Given the description of an element on the screen output the (x, y) to click on. 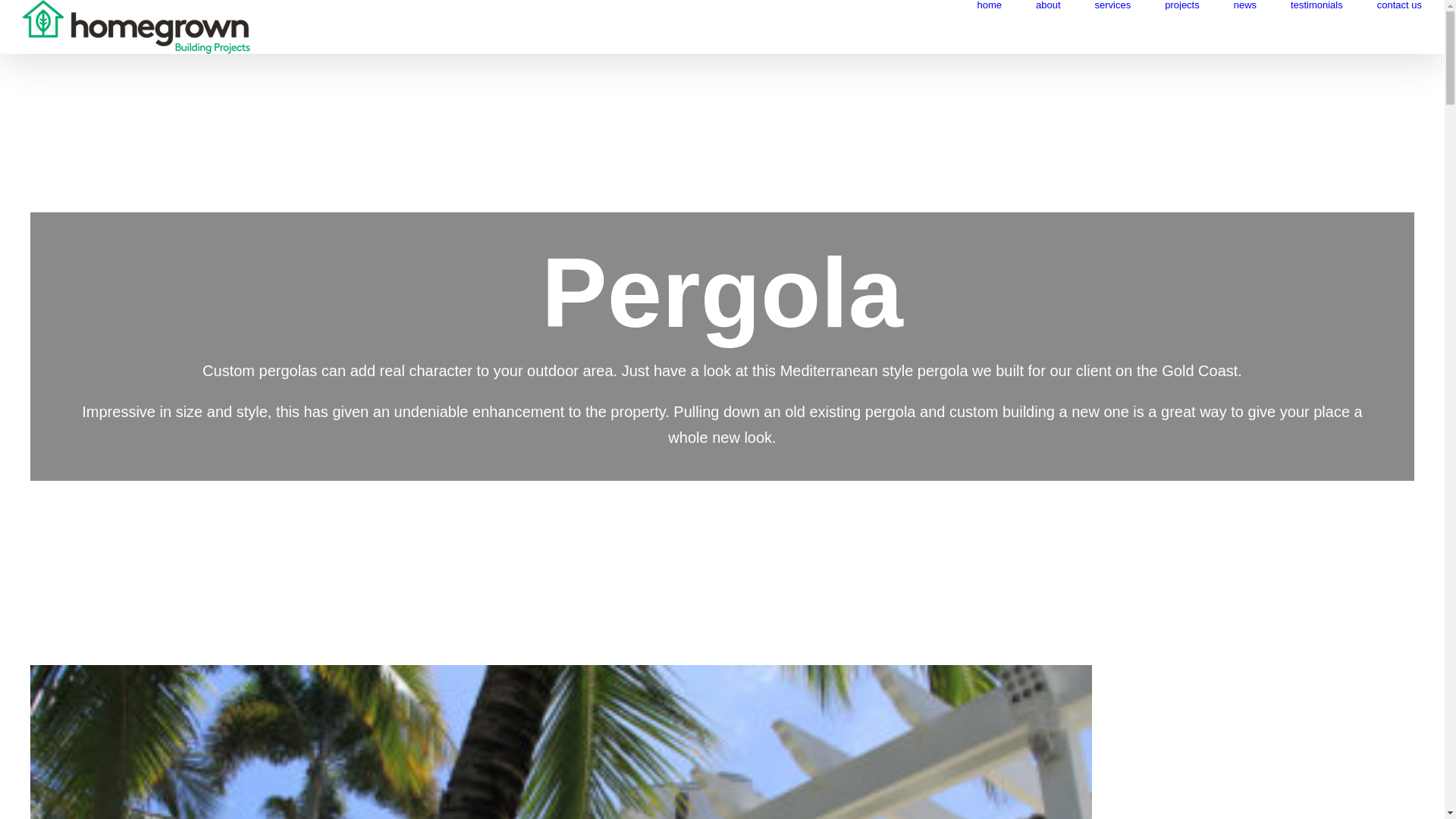
home Element type: text (988, 4)
projects Element type: text (1181, 4)
about Element type: text (1047, 4)
testimonials Element type: text (1316, 4)
services Element type: text (1113, 4)
news Element type: text (1244, 4)
contact us Element type: text (1399, 4)
